Given the description of an element on the screen output the (x, y) to click on. 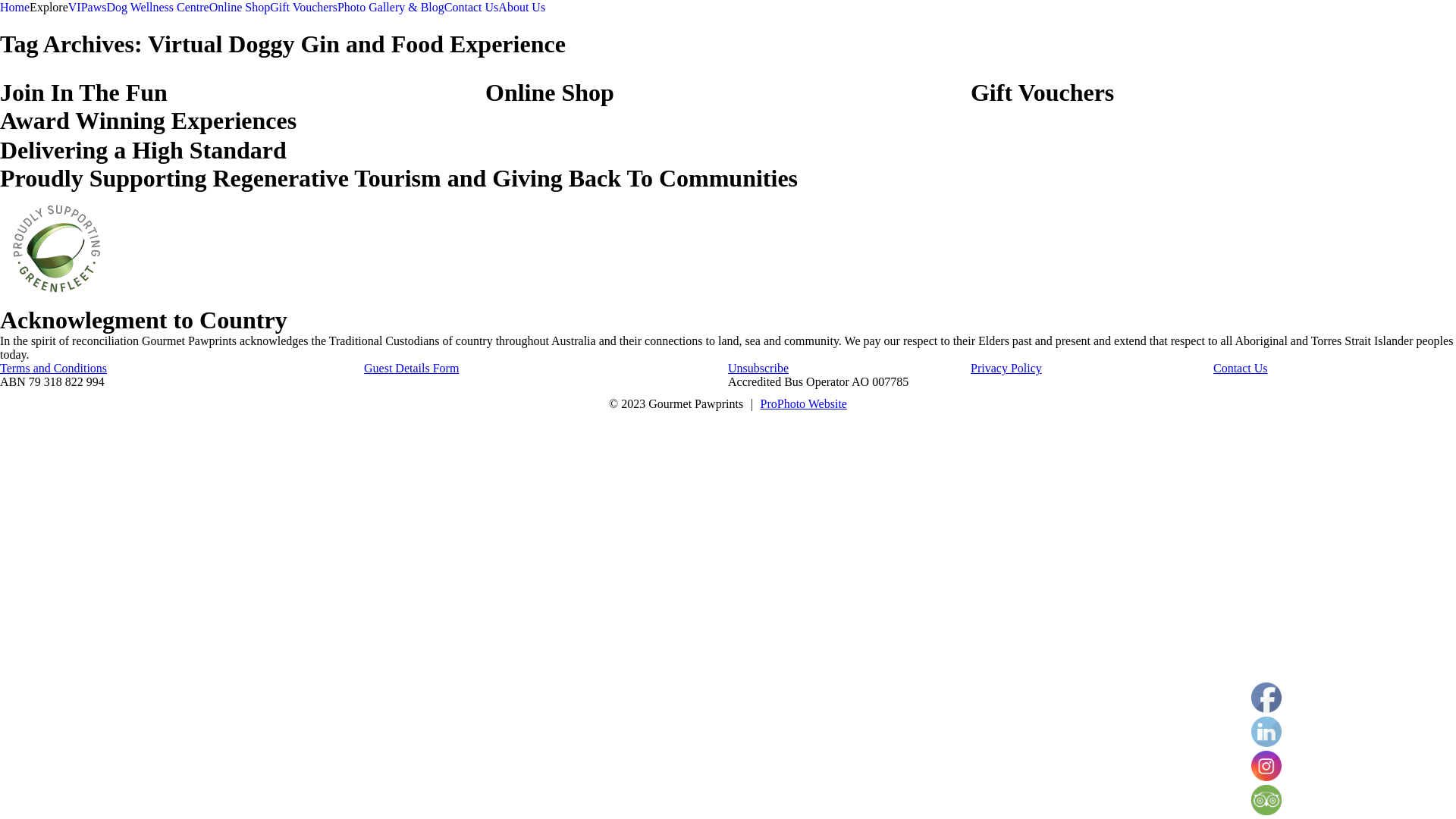
Gift Vouchers Element type: text (303, 6)
Terms and Conditions Element type: text (53, 367)
Unsubscribe Element type: text (758, 367)
Privacy Policy Element type: text (1005, 367)
Dog Wellness Centre Element type: text (157, 6)
Instagram Element type: hover (1266, 765)
Contact Us Element type: text (471, 6)
About Us Element type: text (521, 6)
Guest Details Form Element type: text (411, 367)
Photo Gallery & Blog Element type: text (390, 6)
VIPaws Element type: text (87, 6)
ProPhoto Website Element type: text (802, 403)
Home Element type: text (14, 6)
Online Shop Element type: text (239, 6)
Contact Us Element type: text (1240, 367)
Facebook Element type: hover (1266, 697)
